Given the description of an element on the screen output the (x, y) to click on. 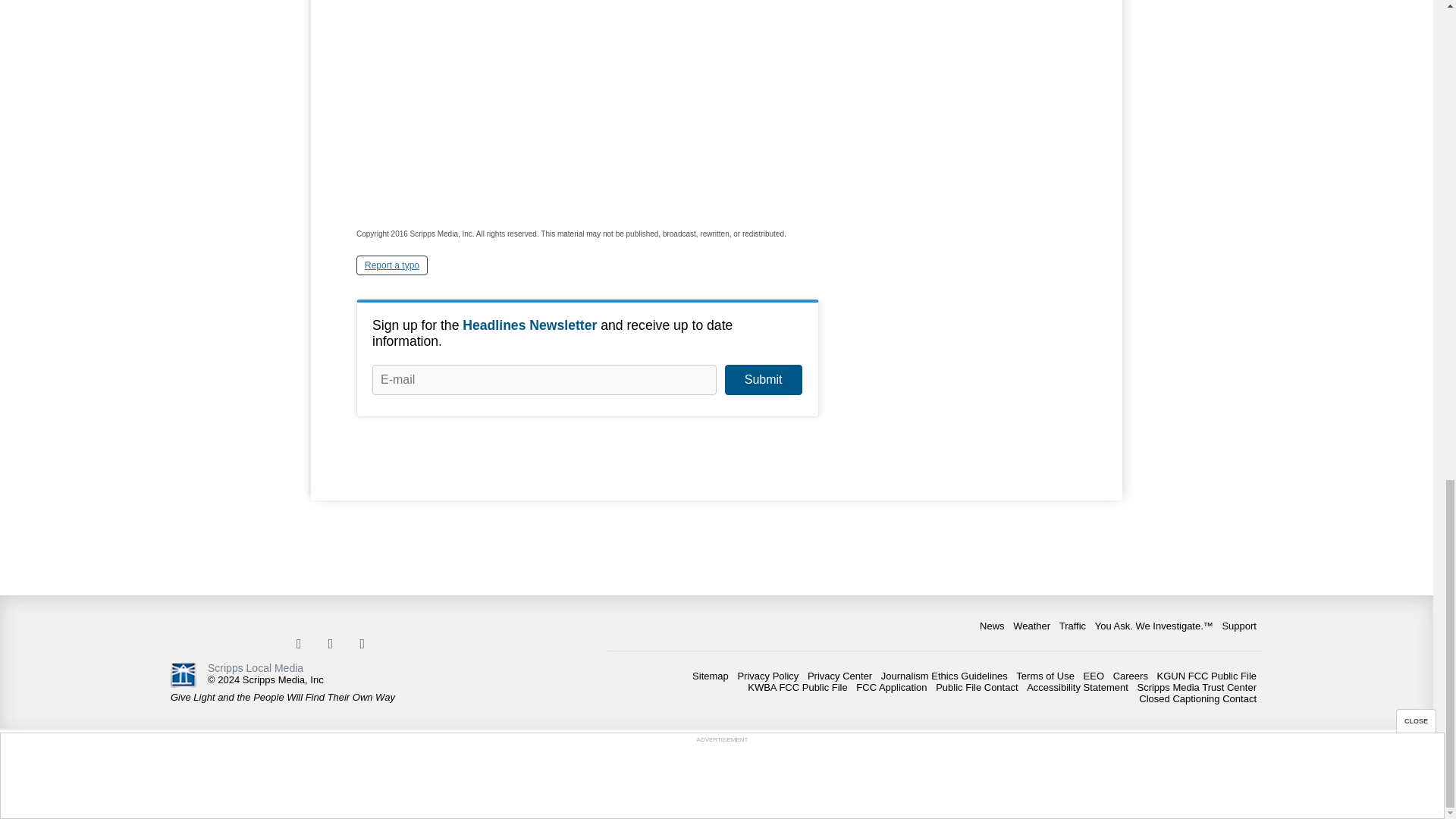
Submit (763, 379)
